Given the description of an element on the screen output the (x, y) to click on. 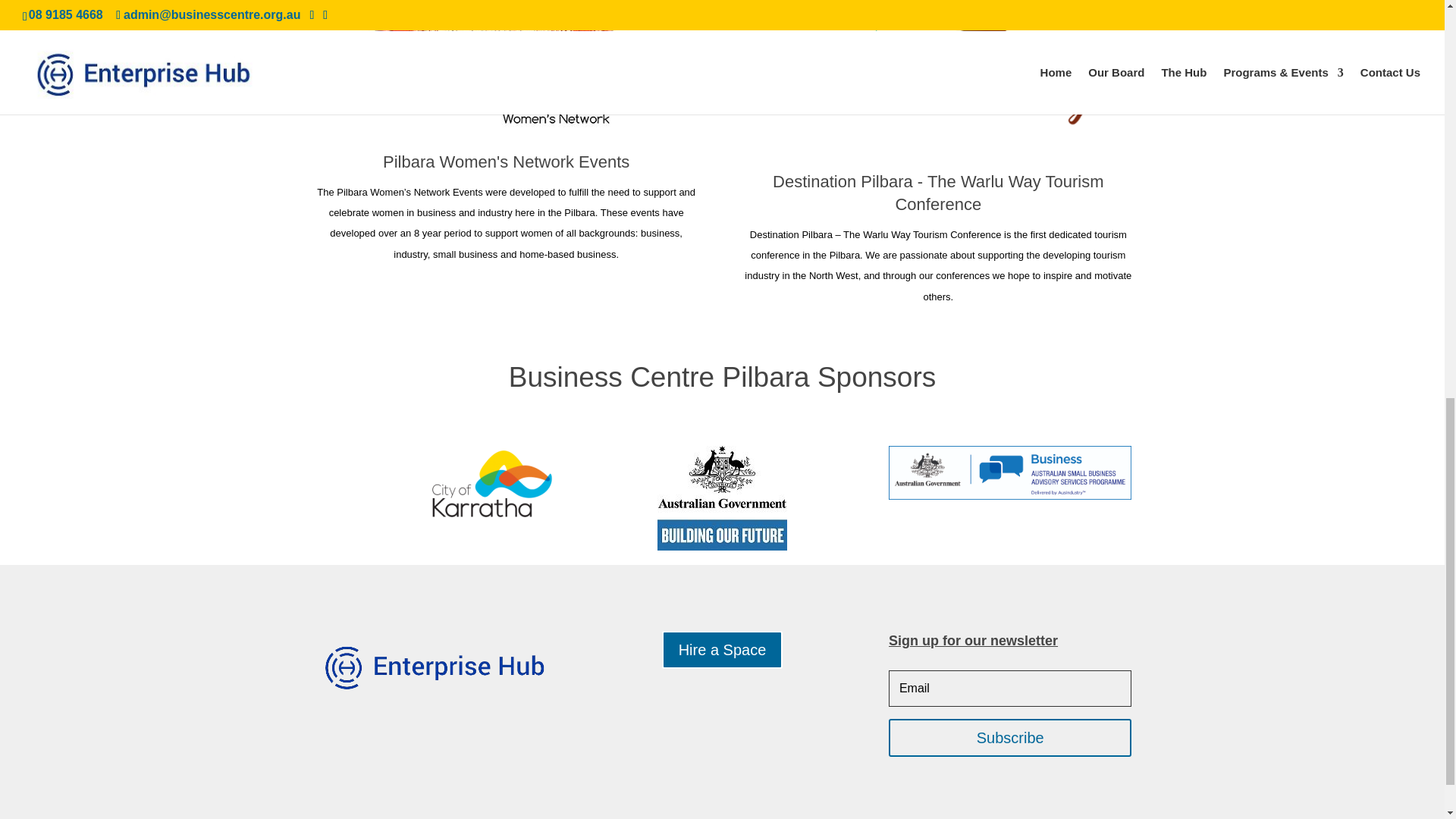
Pilbara Women's Network Events (505, 161)
ENTERPRISE HUB LOGO (433, 665)
Subscribe (1009, 737)
Hire a Space (722, 649)
Destination Pilbara - The Warlu Way Tourism Conference (938, 192)
